Given the description of an element on the screen output the (x, y) to click on. 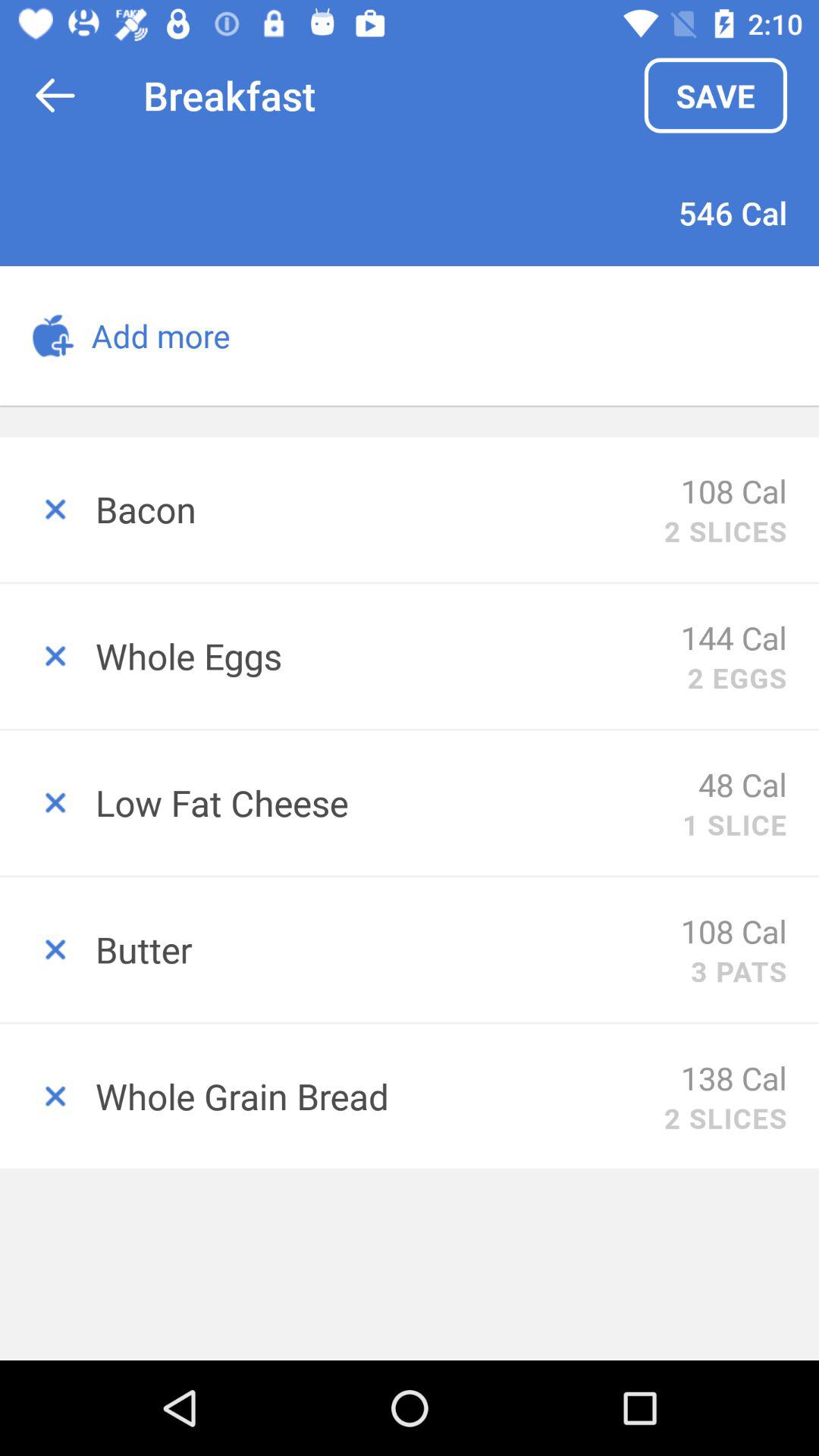
delete list item (47, 1096)
